Given the description of an element on the screen output the (x, y) to click on. 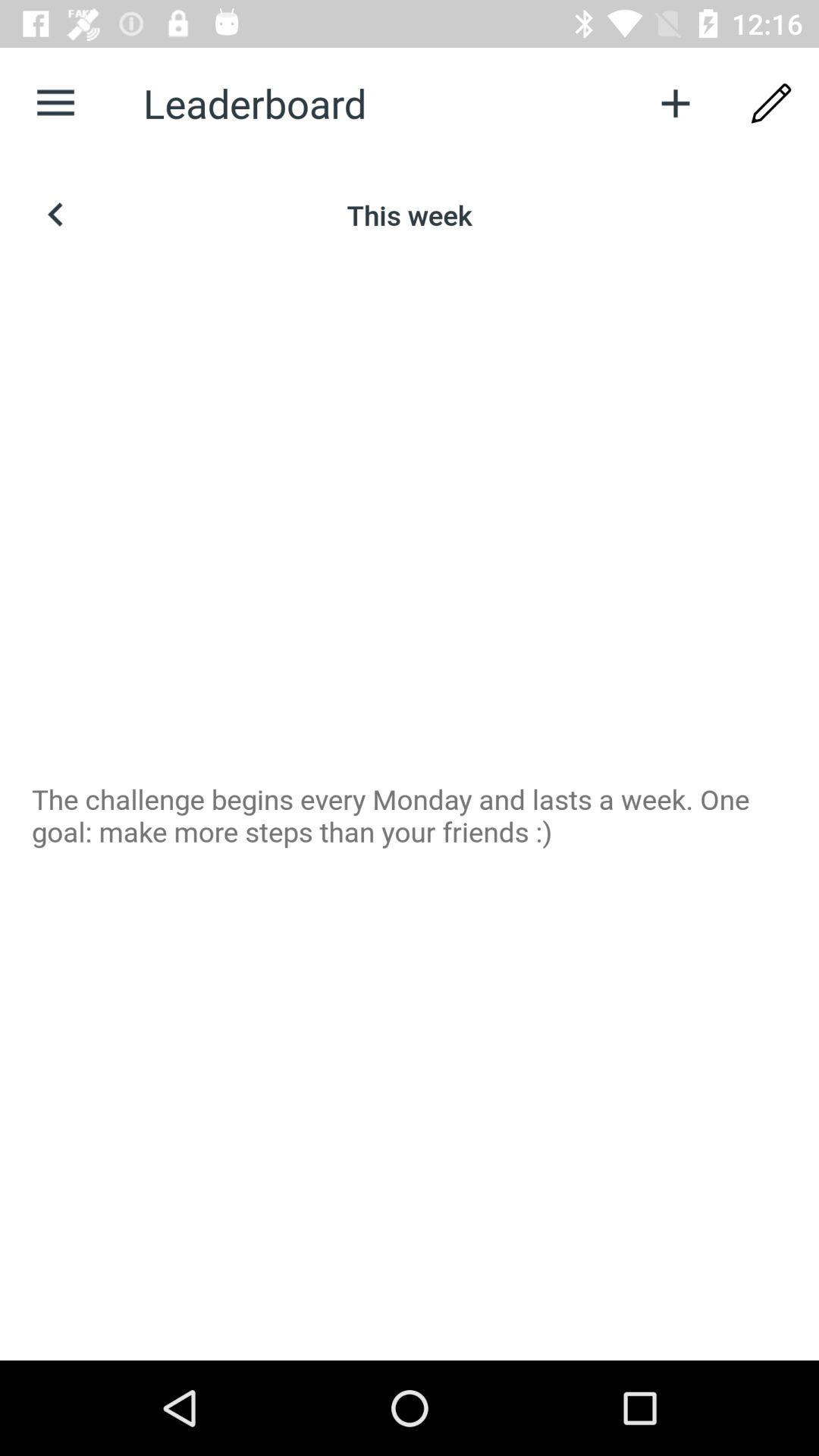
go to previous (55, 214)
